Given the description of an element on the screen output the (x, y) to click on. 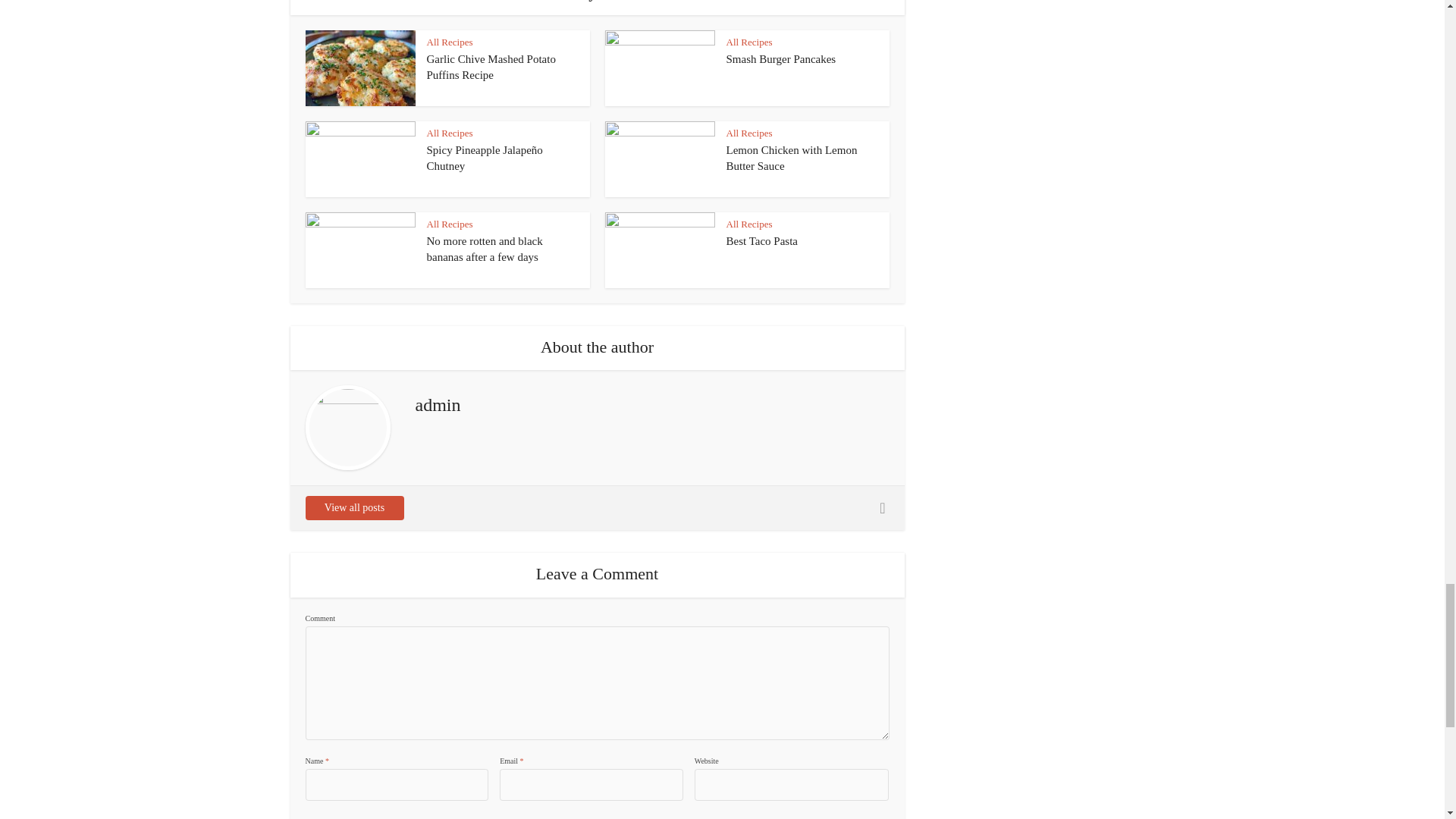
Garlic Chive Mashed Potato Puffins Recipe (490, 66)
Smash Burger Pancakes (780, 59)
All Recipes (749, 41)
Lemon Chicken with Lemon Butter Sauce (791, 157)
No more rotten and black bananas after a few days (483, 248)
Best Taco Pasta (761, 241)
Smash Burger Pancakes (780, 59)
All Recipes (448, 41)
Garlic Chive Mashed Potato Puffins Recipe (490, 66)
